Given the description of an element on the screen output the (x, y) to click on. 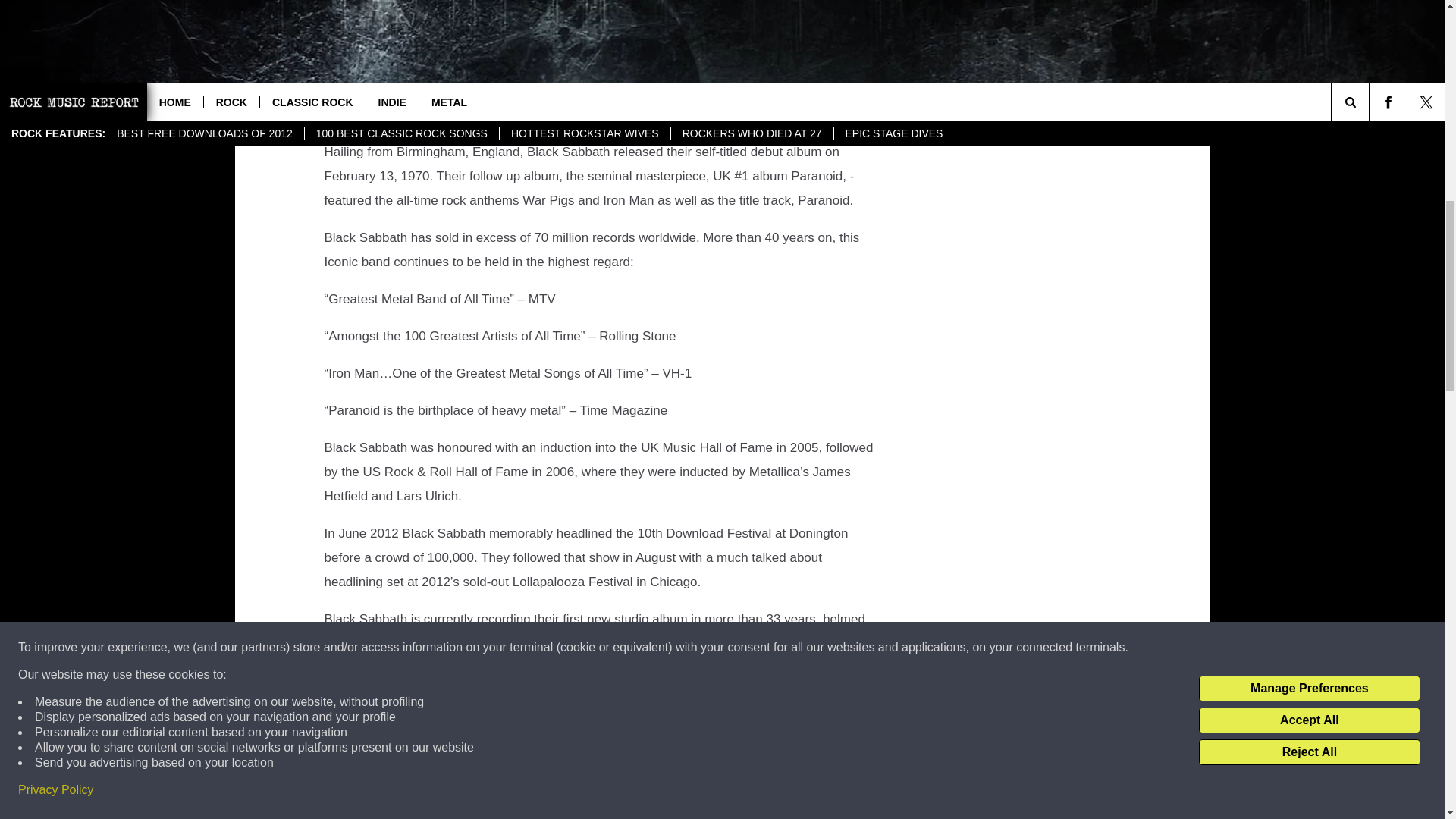
www.livenation.com.au (676, 114)
